Given the description of an element on the screen output the (x, y) to click on. 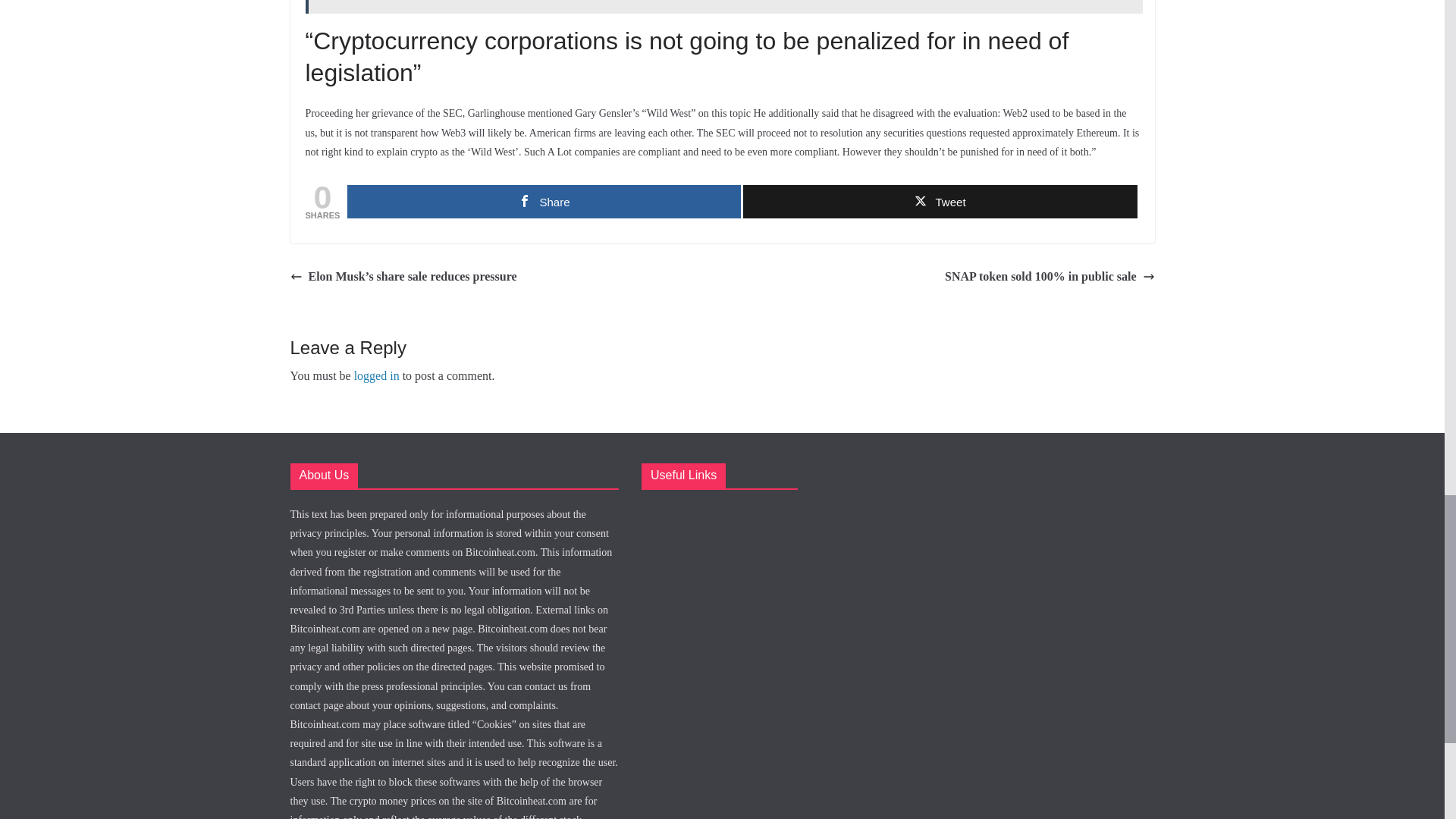
Share (544, 201)
Tweet (939, 201)
logged in (375, 375)
Read;  Binance announces Swipe, SXP rises 30 percent (722, 6)
